Given the description of an element on the screen output the (x, y) to click on. 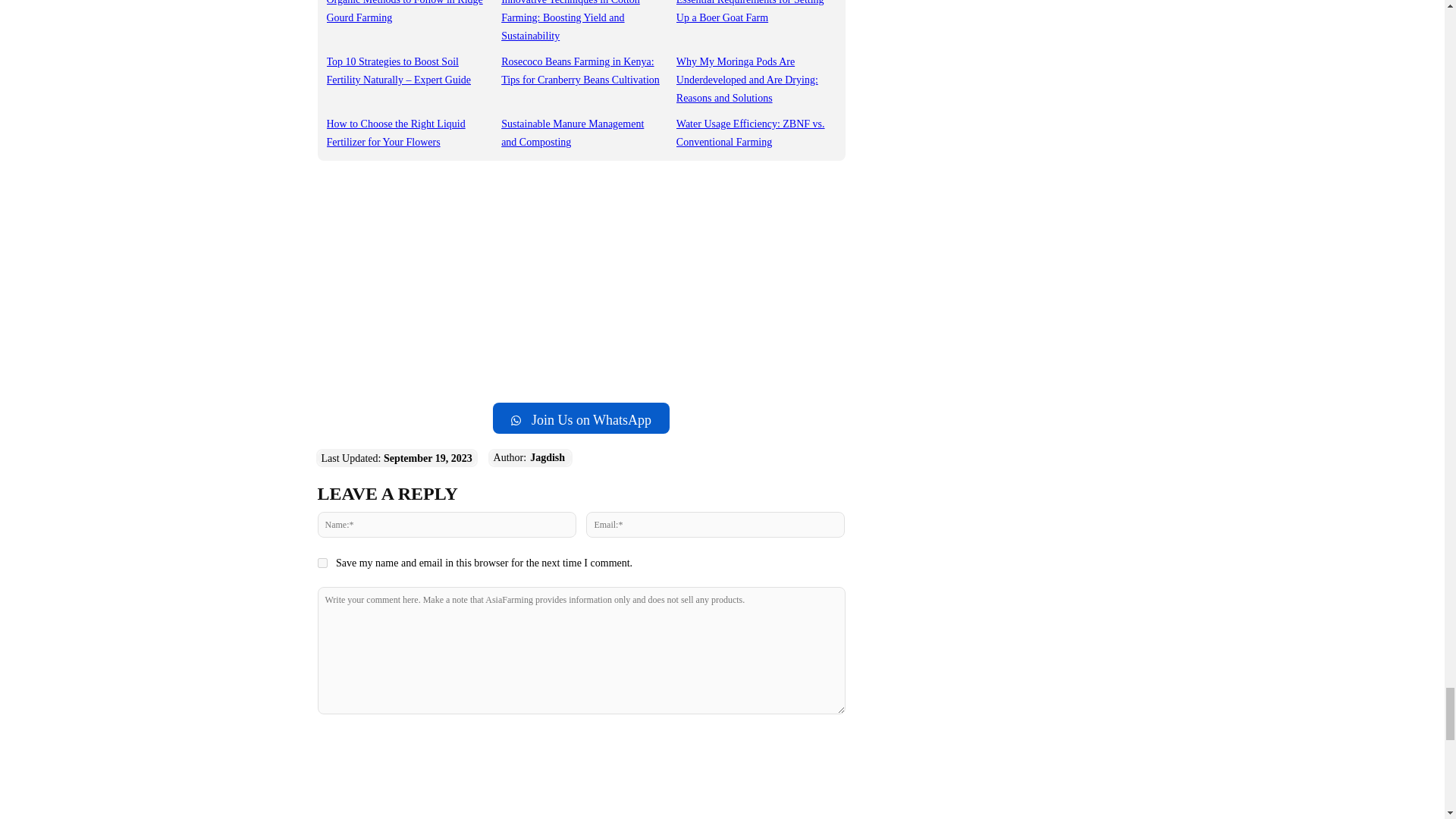
Post Comment (581, 744)
Join Us on WhatsApp (581, 418)
yes (321, 562)
